Given the description of an element on the screen output the (x, y) to click on. 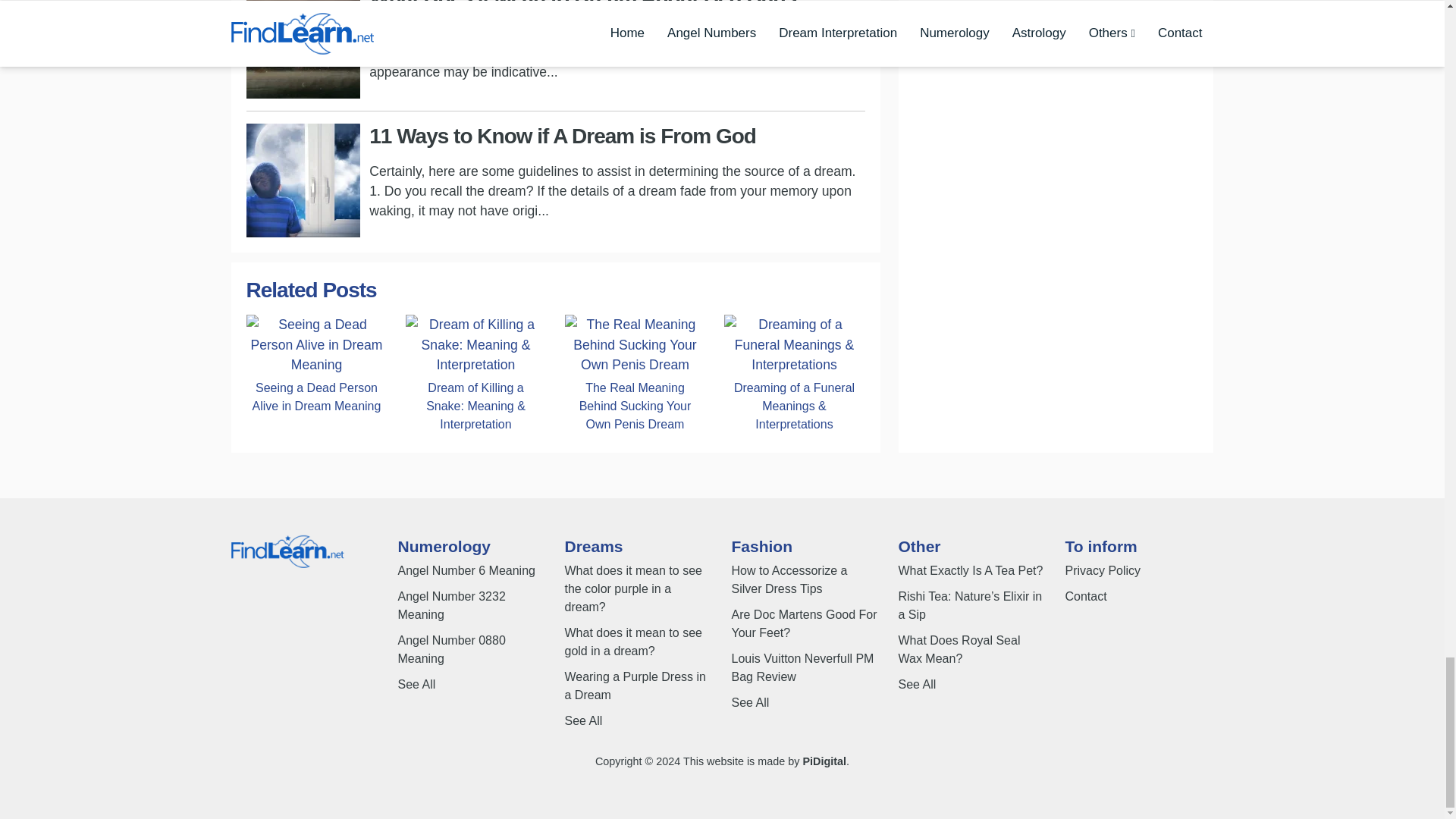
The Real Meaning Behind Sucking Your Own Penis Dream (634, 406)
Seeing a Dead Person Alive in Dream Meaning (316, 397)
Seeing a Dead Person Alive in Dream Meaning (316, 344)
